Given the description of an element on the screen output the (x, y) to click on. 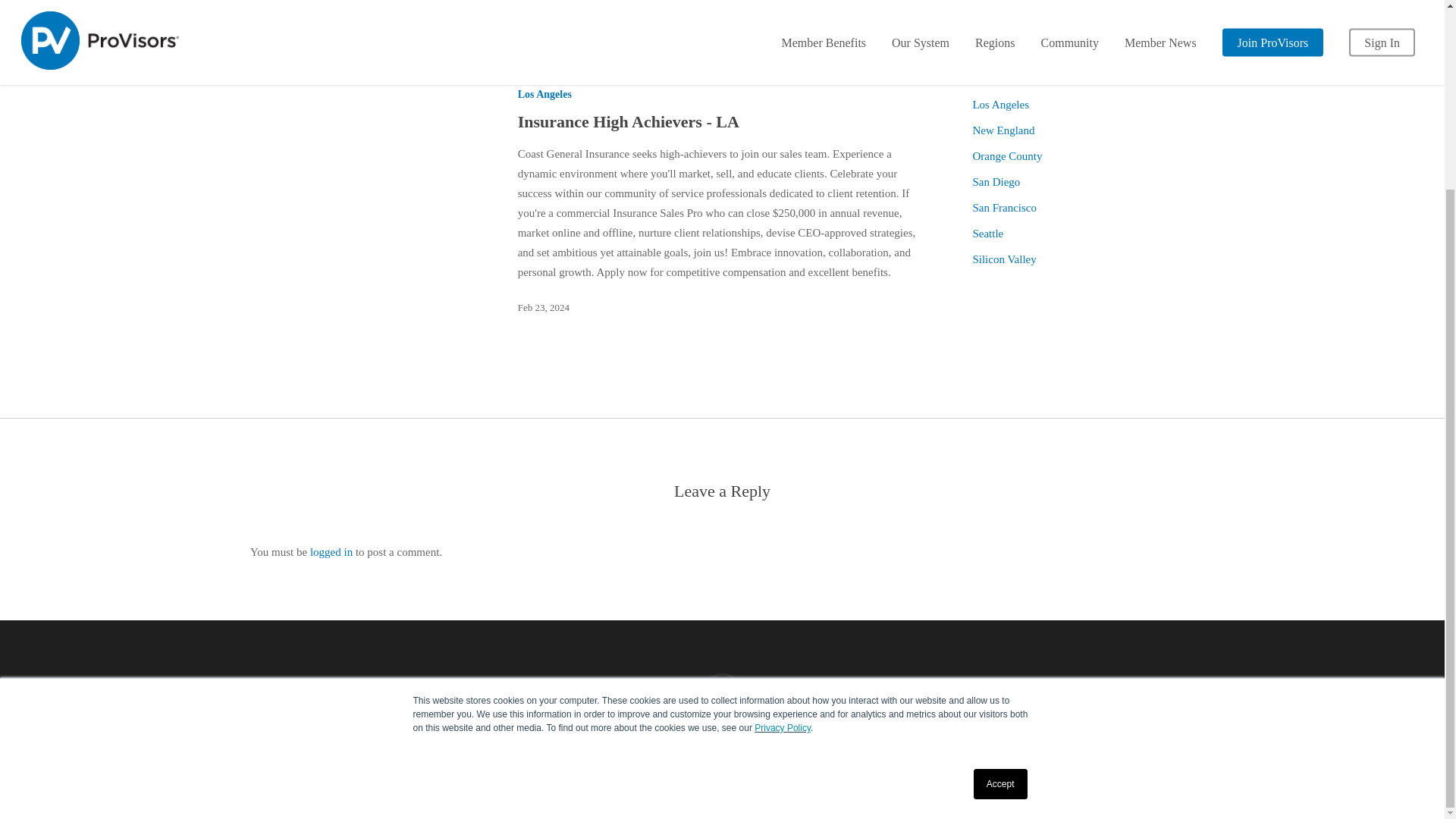
Orange County (1082, 156)
Los Angeles (1082, 104)
Insurance High Achievers - LA (628, 121)
San Diego (1082, 181)
Silicon Valley (1082, 259)
logged in (331, 551)
Los Angeles (545, 93)
Seattle (1082, 233)
Privacy Policy (721, 757)
Accept (1000, 548)
San Francisco (1082, 207)
New England (1082, 130)
linkedin (722, 692)
Chicago (1082, 78)
Atlanta (1082, 53)
